Given the description of an element on the screen output the (x, y) to click on. 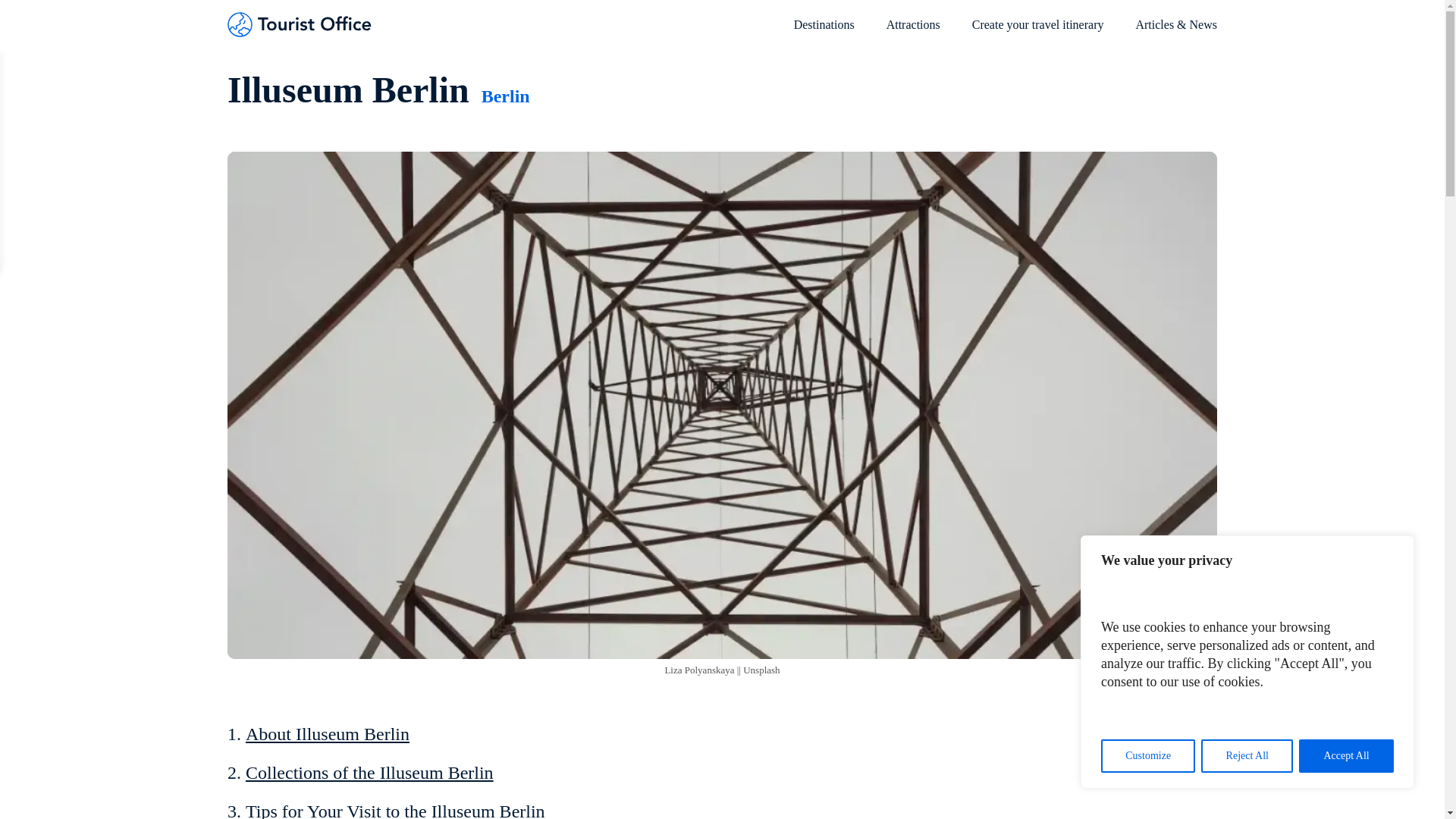
Destinations (823, 32)
Customize (1147, 756)
Accept All (1345, 756)
Reject All (1246, 756)
